Given the description of an element on the screen output the (x, y) to click on. 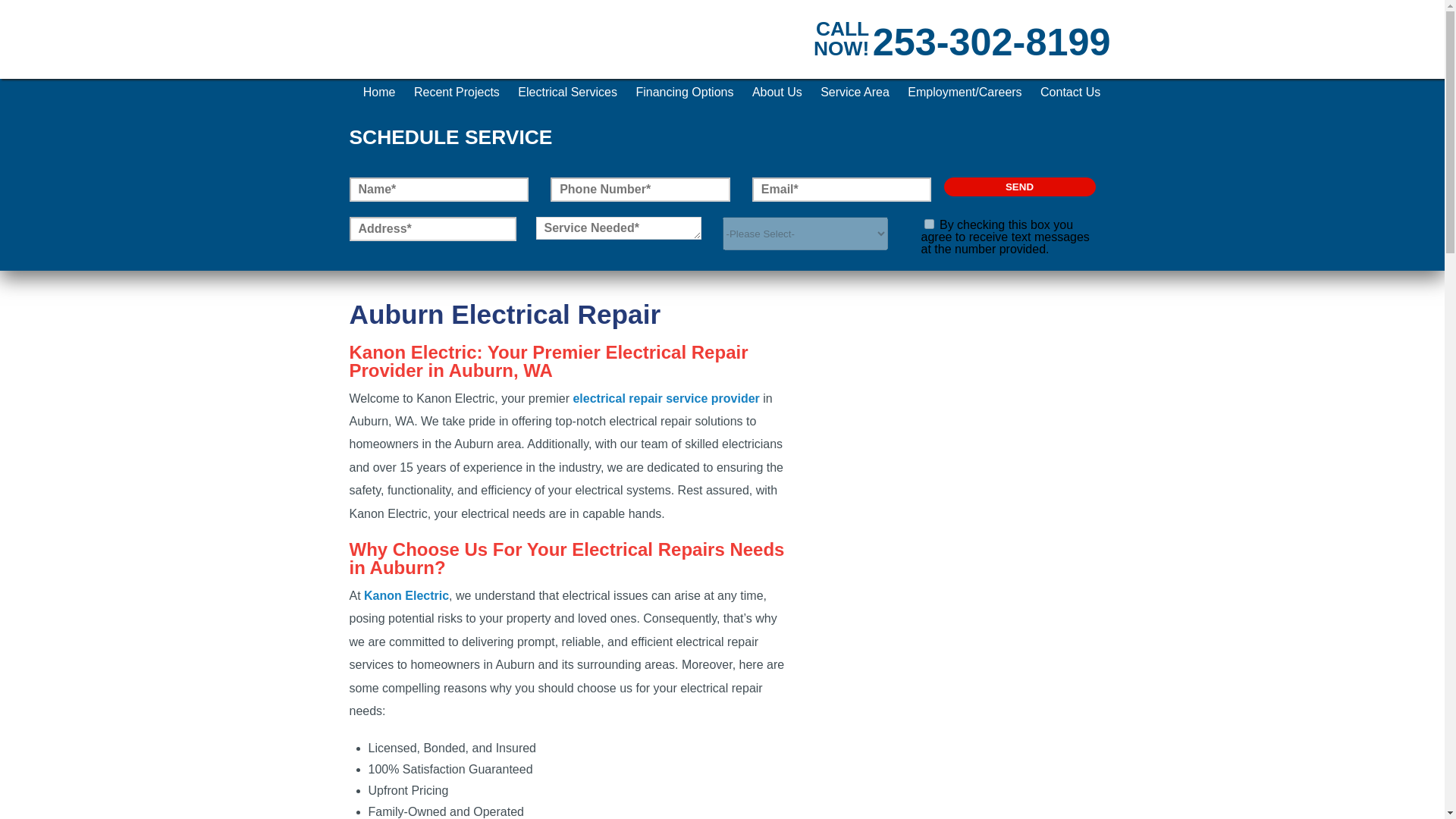
Send (1018, 186)
Electrical Services (567, 92)
253-302-8199 (991, 41)
Kanon electric (422, 60)
Recent Projects (456, 92)
Home (379, 92)
